Given the description of an element on the screen output the (x, y) to click on. 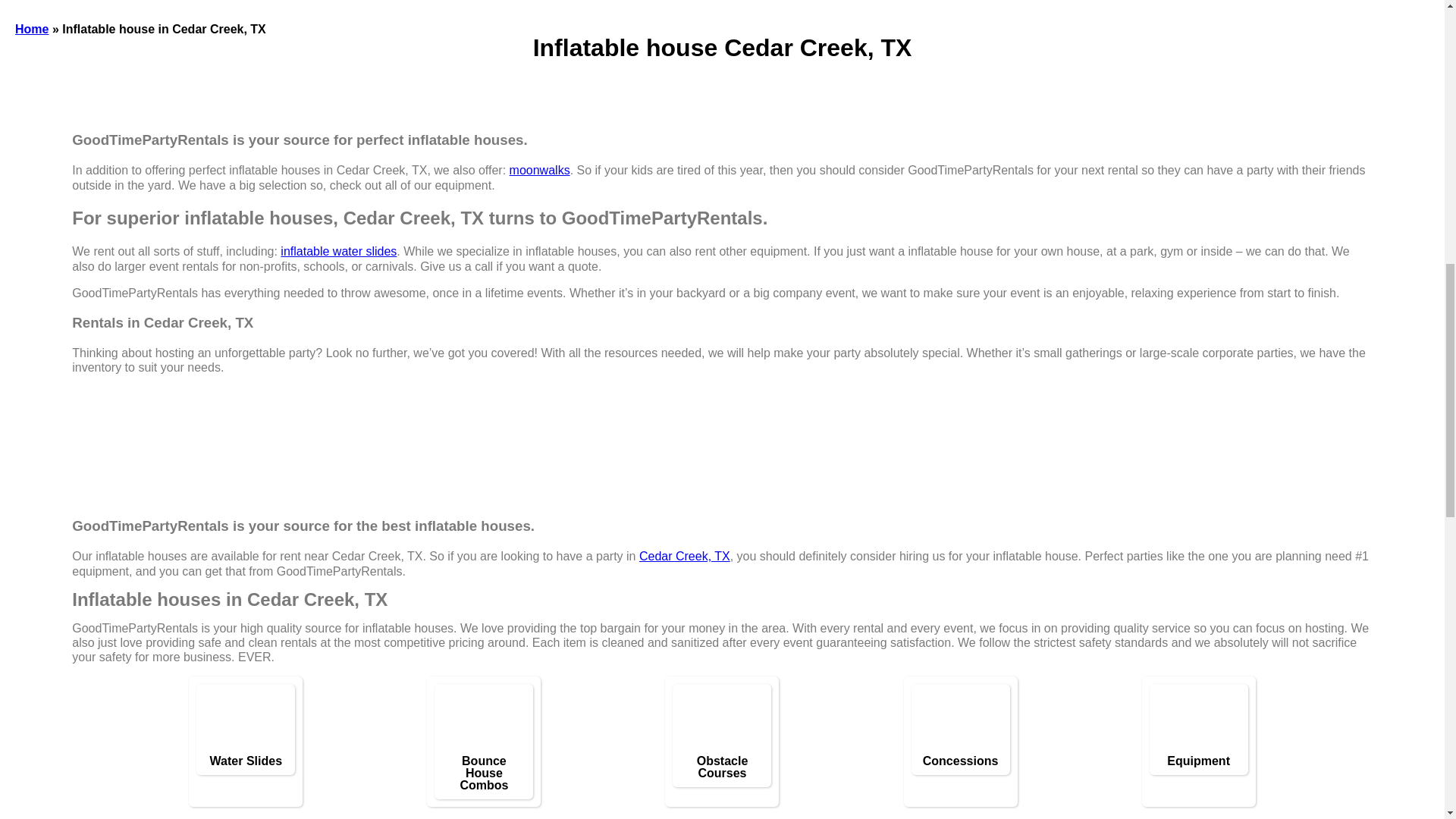
moonwalks (539, 169)
Obstacle Courses (725, 721)
inflatable water slides (338, 250)
Home (31, 29)
Cedar Creek, TX (684, 555)
Bounce House Combos (483, 773)
Obstacle Courses (720, 767)
Concessions (964, 721)
Equipment (1198, 761)
Concessions (960, 761)
Water Slides (244, 761)
Water Slides (249, 721)
Equipment (1202, 721)
Bounce House Combos (487, 721)
